Given the description of an element on the screen output the (x, y) to click on. 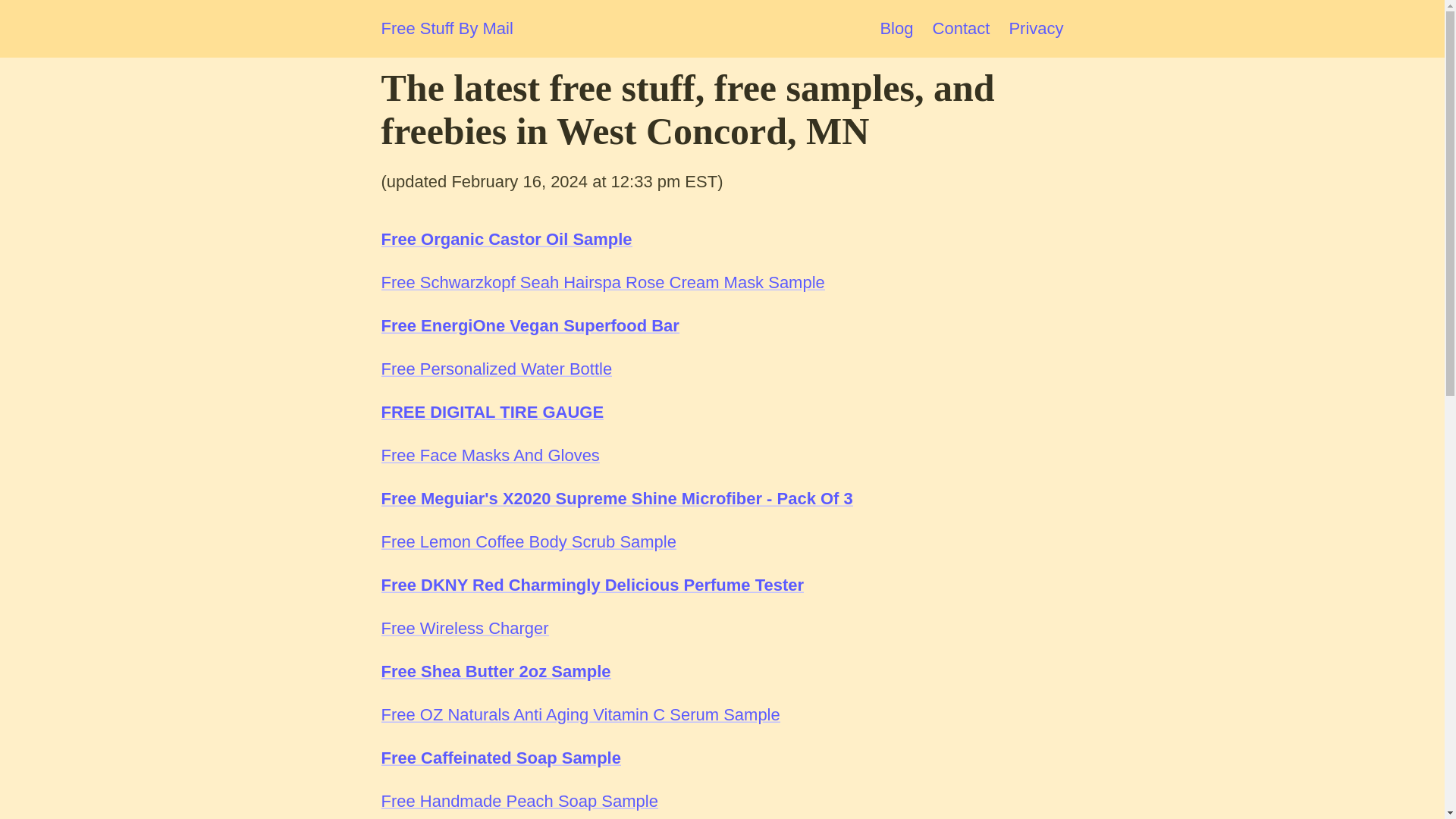
Free EnergiOne Vegan Superfood Bar (529, 325)
FREE DIGITAL TIRE GAUGE (492, 411)
Free Schwarzkopf Seah Hairspa Rose Cream Mask Sample (602, 281)
Free Meguiar's X2020 Supreme Shine Microfiber - Pack Of 3 (615, 497)
Free Caffeinated Soap Sample (500, 757)
Free Organic Castor Oil Sample (505, 239)
Free DKNY Red Charmingly Delicious Perfume Tester (591, 584)
Free Handmade Peach Soap Sample (519, 800)
Free Shea Butter 2oz Sample (495, 670)
Free Face Masks And Gloves (489, 455)
Contact (961, 27)
Free Lemon Coffee Body Scrub Sample (527, 541)
Free Personalized Water Bottle (495, 368)
Blog (895, 27)
Free OZ Naturals Anti Aging Vitamin C Serum Sample (579, 714)
